Given the description of an element on the screen output the (x, y) to click on. 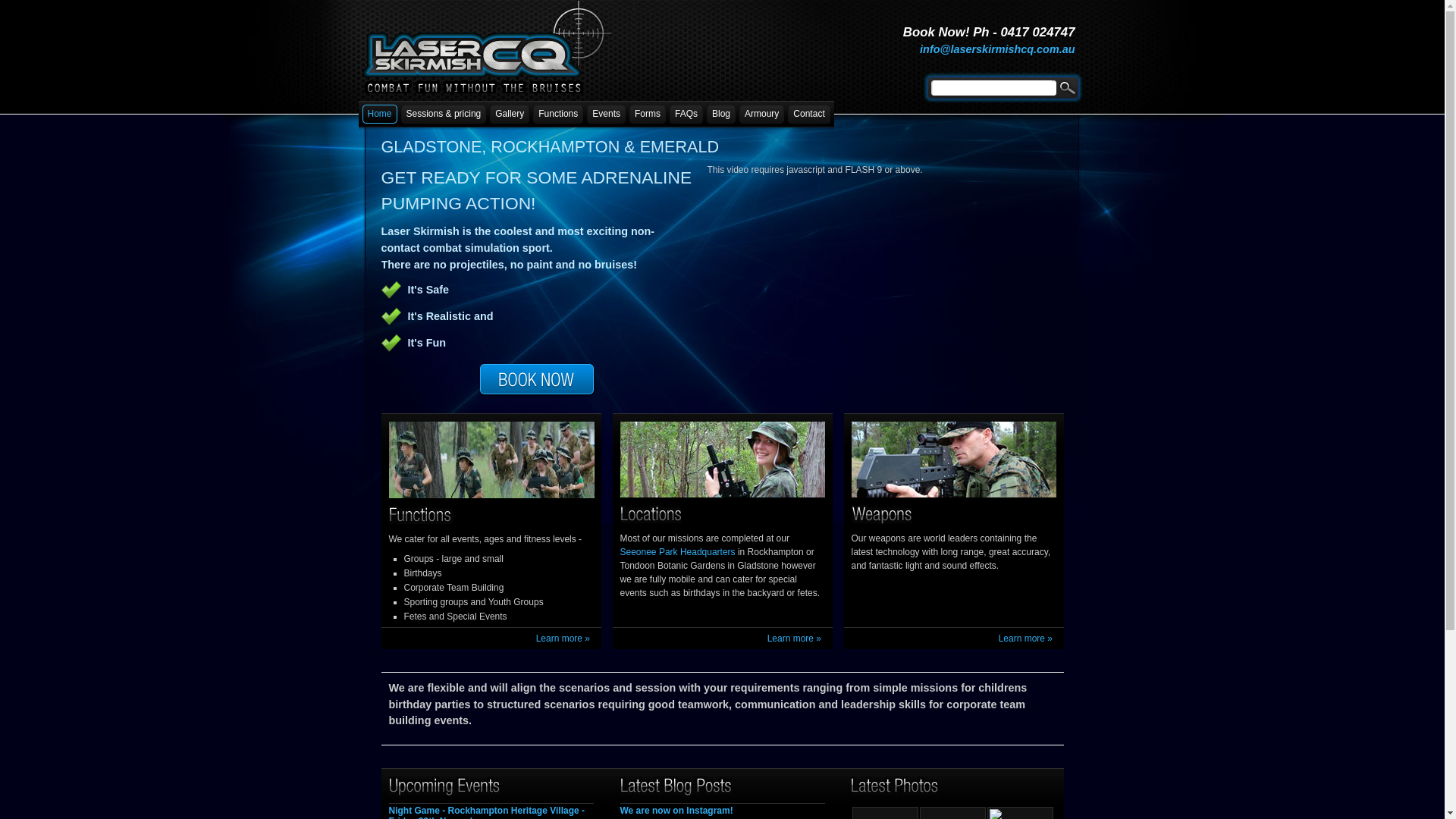
Functions Element type: text (558, 113)
Contact us now to book Element type: hover (536, 379)
Events Element type: text (605, 113)
Gallery Element type: text (509, 113)
Blog Element type: text (720, 113)
Sessions & pricing Element type: text (443, 113)
info@laserskirmishcq.com.au Element type: text (996, 49)
Home Element type: text (379, 113)
Armoury Element type: text (761, 113)
Back to the home page Element type: hover (483, 86)
FAQs Element type: text (685, 113)
Forms Element type: text (647, 113)
Contact Element type: text (808, 113)
We are now on Instagram! Element type: text (676, 810)
Search Laser Skirmish CQ Element type: hover (1068, 87)
Seeonee Park Headquarters Element type: text (677, 551)
